Given the description of an element on the screen output the (x, y) to click on. 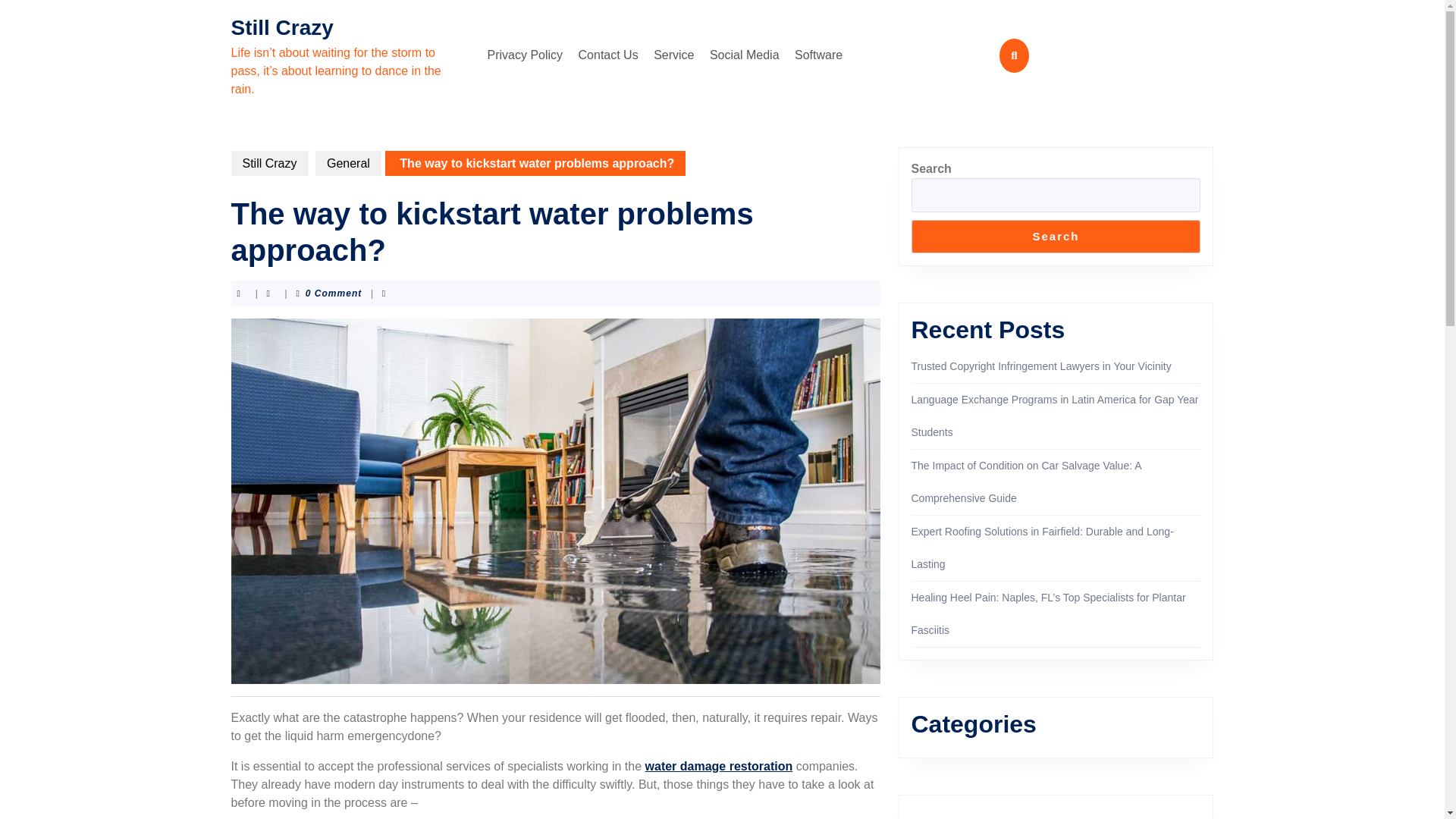
Trusted Copyright Infringement Lawyers in Your Vicinity (1041, 366)
Contact Us (608, 55)
Software (818, 55)
Business (933, 818)
Search (1056, 236)
Still Crazy (268, 163)
General (348, 163)
Social Media (744, 55)
water damage restoration (719, 766)
